Given the description of an element on the screen output the (x, y) to click on. 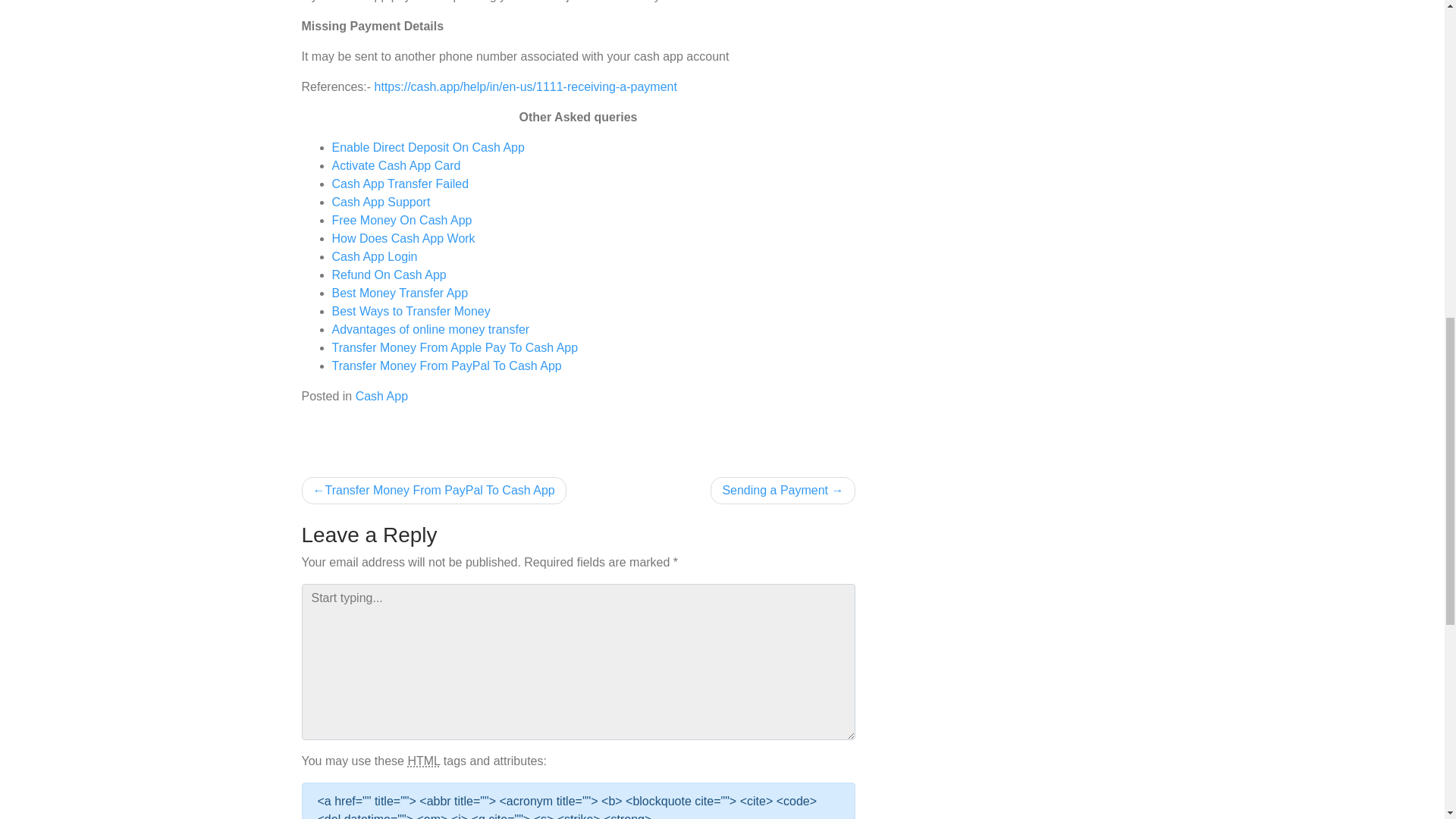
Best Ways to Transfer Money (410, 310)
How Does Cash App Work (403, 237)
Cash App Support (380, 201)
Activate Cash App Card (396, 164)
Transfer Money From PayPal To Cash App (433, 490)
Cash App (381, 395)
Enable Direct Deposit On Cash App (427, 146)
Cash App Login (374, 256)
Transfer Money From PayPal To Cash App (446, 365)
Sending a Payment (782, 490)
Advantages of online money transfer (430, 328)
Refund On Cash App (388, 274)
Cash App Transfer Failed (399, 183)
Free Money On Cash App (401, 219)
Transfer Money From Apple Pay To Cash App (454, 347)
